Given the description of an element on the screen output the (x, y) to click on. 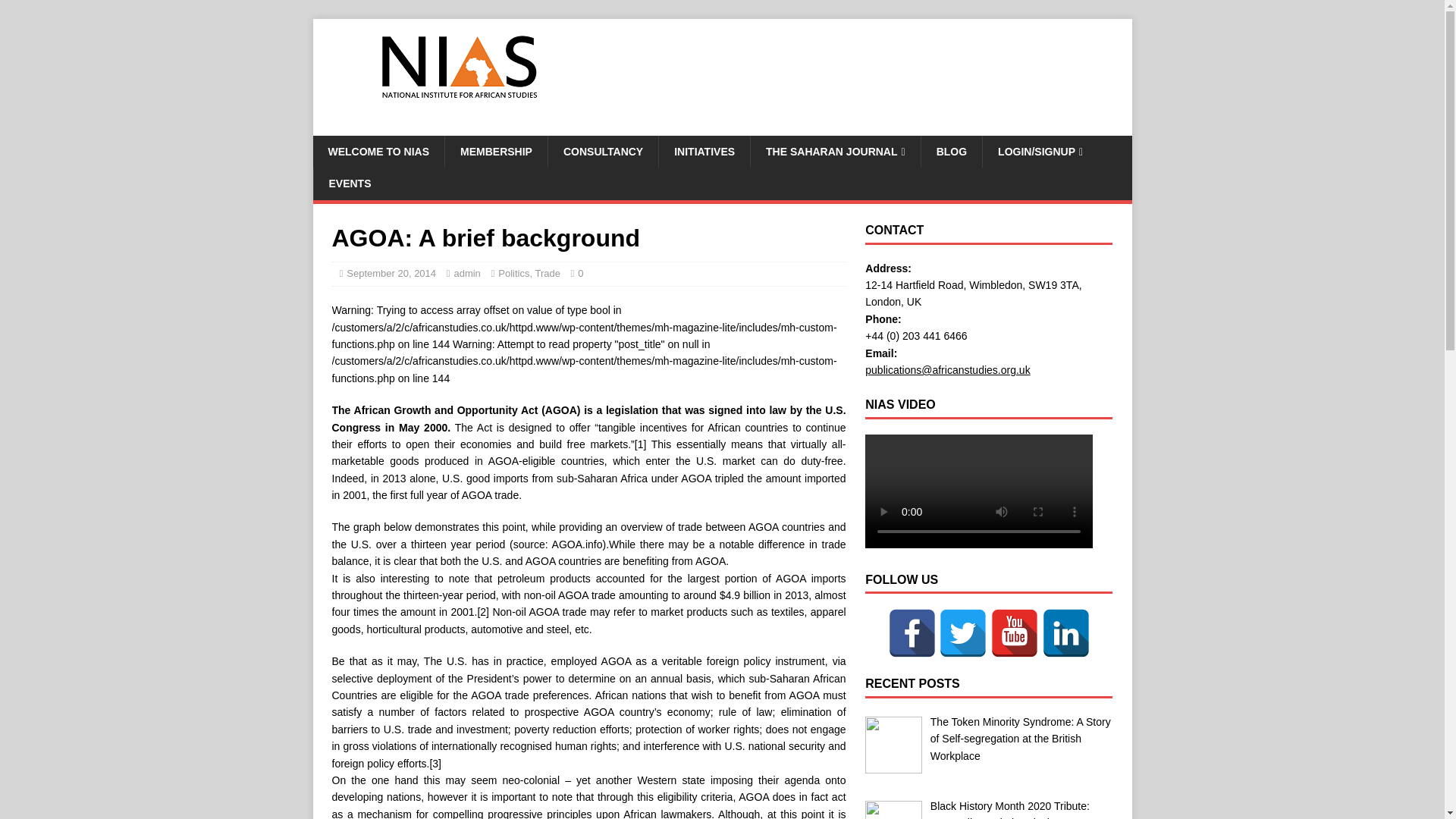
Trade (546, 273)
THE SAHARAN JOURNAL (834, 151)
MEMBERSHIP (495, 151)
YouTube (1014, 633)
BLOG (950, 151)
Twitter (963, 633)
INITIATIVES (703, 151)
LinkedIn (1066, 633)
EVENTS (349, 183)
CONSULTANCY (602, 151)
admin (466, 273)
Facebook (911, 633)
WELCOME TO NIAS (378, 151)
